Given the description of an element on the screen output the (x, y) to click on. 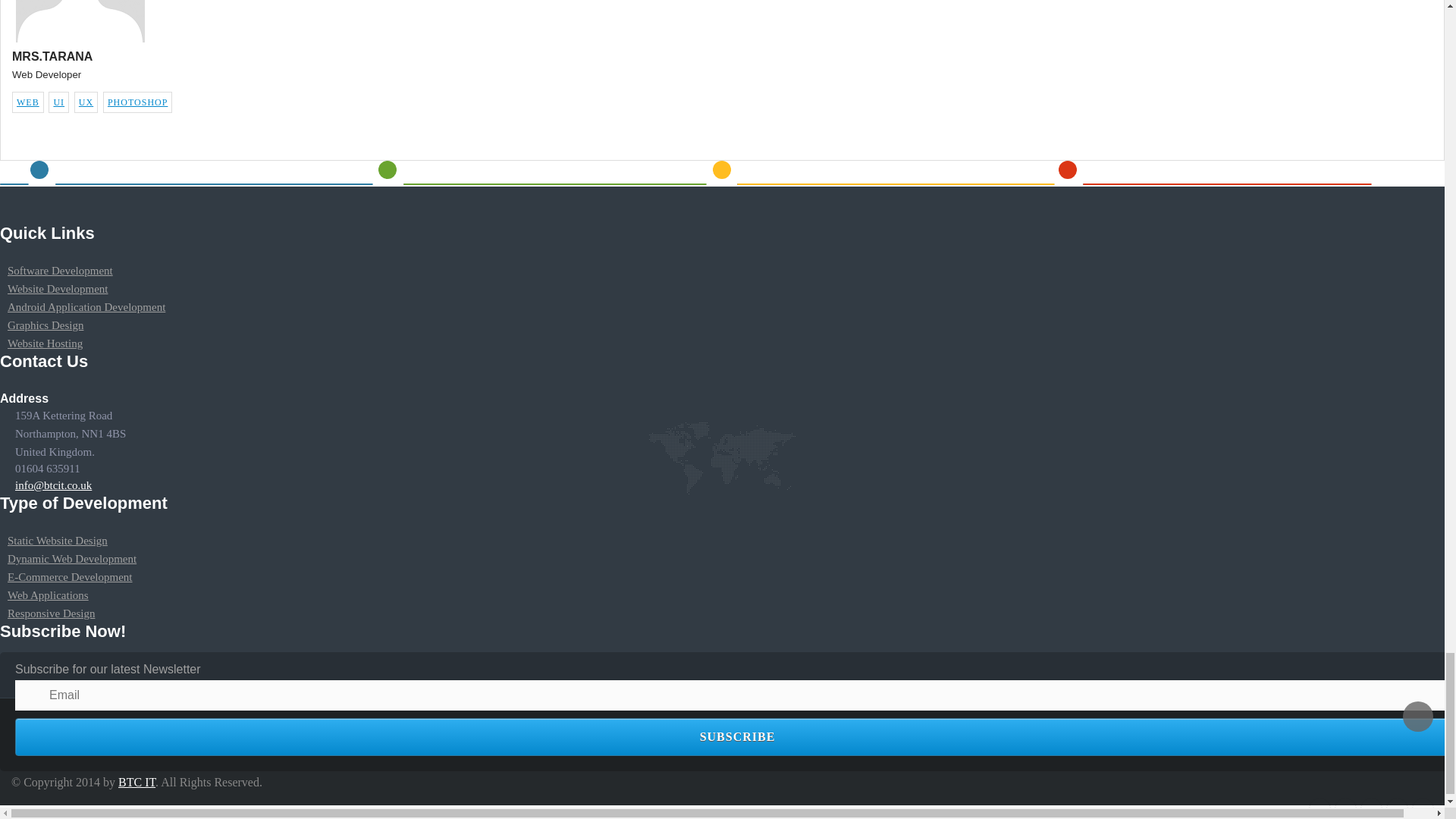
Subscribe (735, 736)
